Given the description of an element on the screen output the (x, y) to click on. 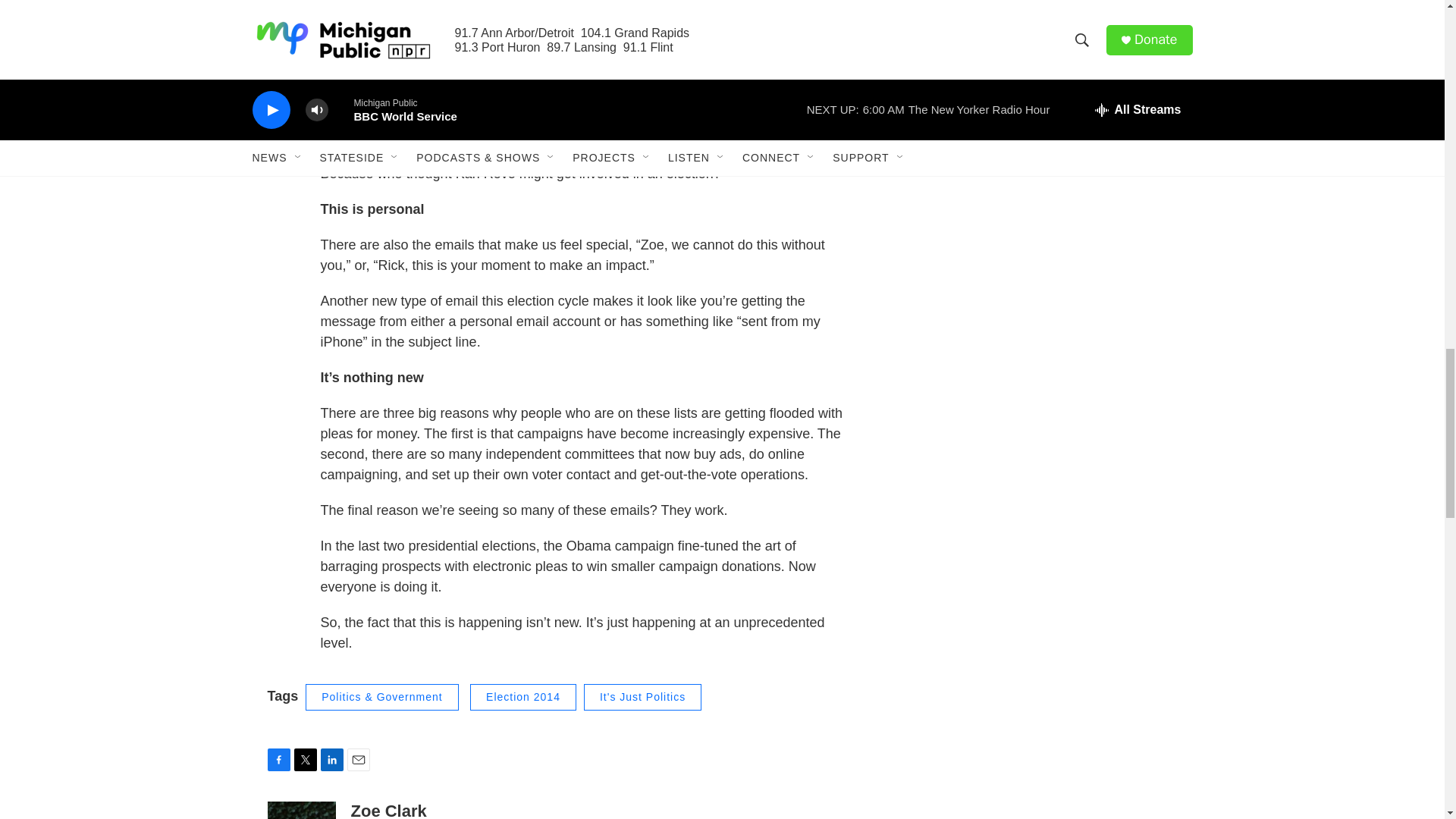
3rd party ad content (1062, 16)
